Given the description of an element on the screen output the (x, y) to click on. 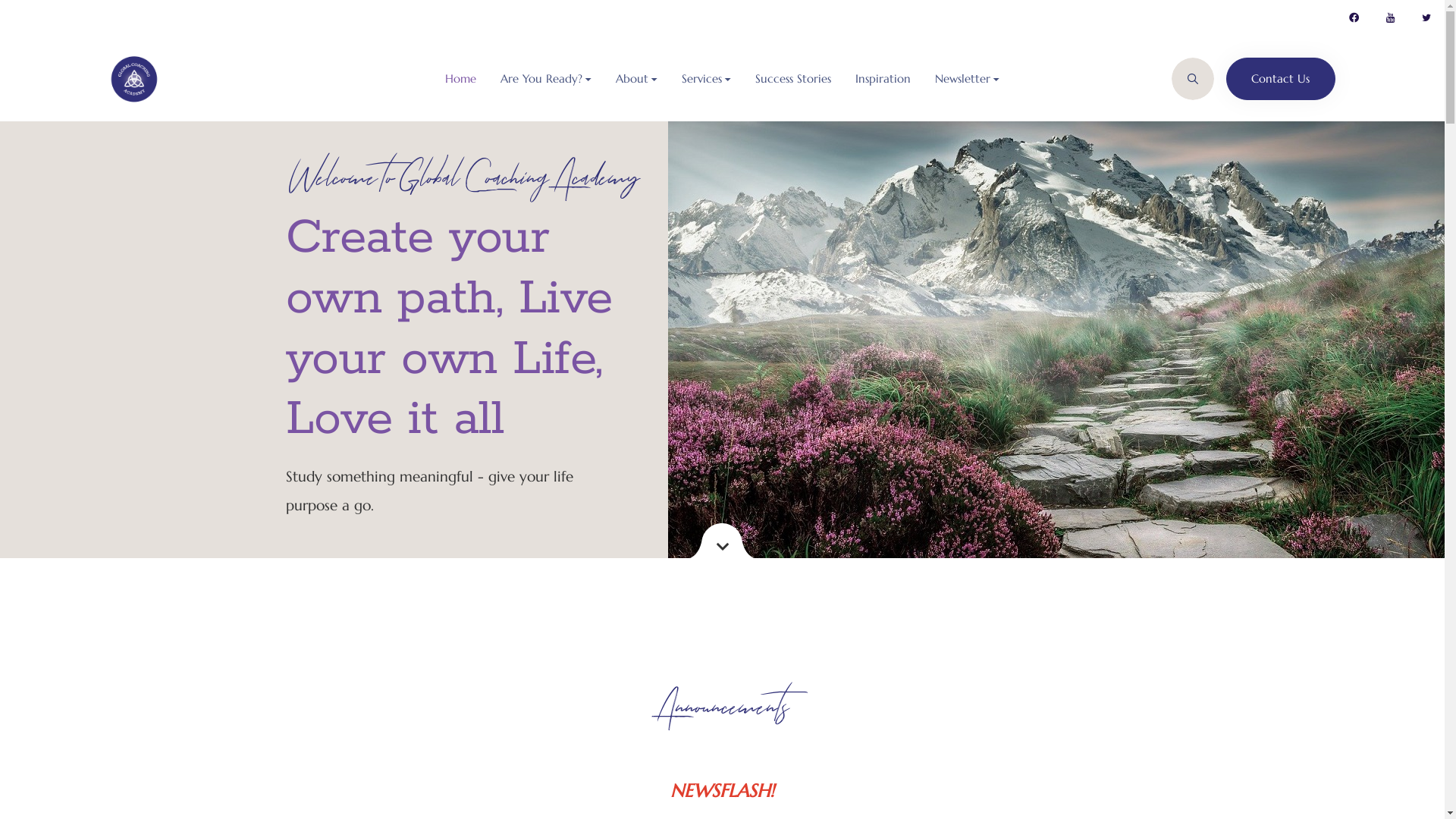
Inspiration Element type: text (882, 78)
YouTube Element type: hover (1389, 18)
Home Element type: text (460, 78)
Are You Ready? Element type: text (545, 78)
Global Coaching Academy Element type: hover (134, 78)
About Element type: text (636, 78)
Services Element type: text (706, 78)
Newsletter Element type: text (966, 78)
Facebook Element type: hover (1353, 18)
Success Stories Element type: text (793, 78)
Twitter Element type: hover (1426, 18)
Contact Us Element type: text (1280, 78)
